Given the description of an element on the screen output the (x, y) to click on. 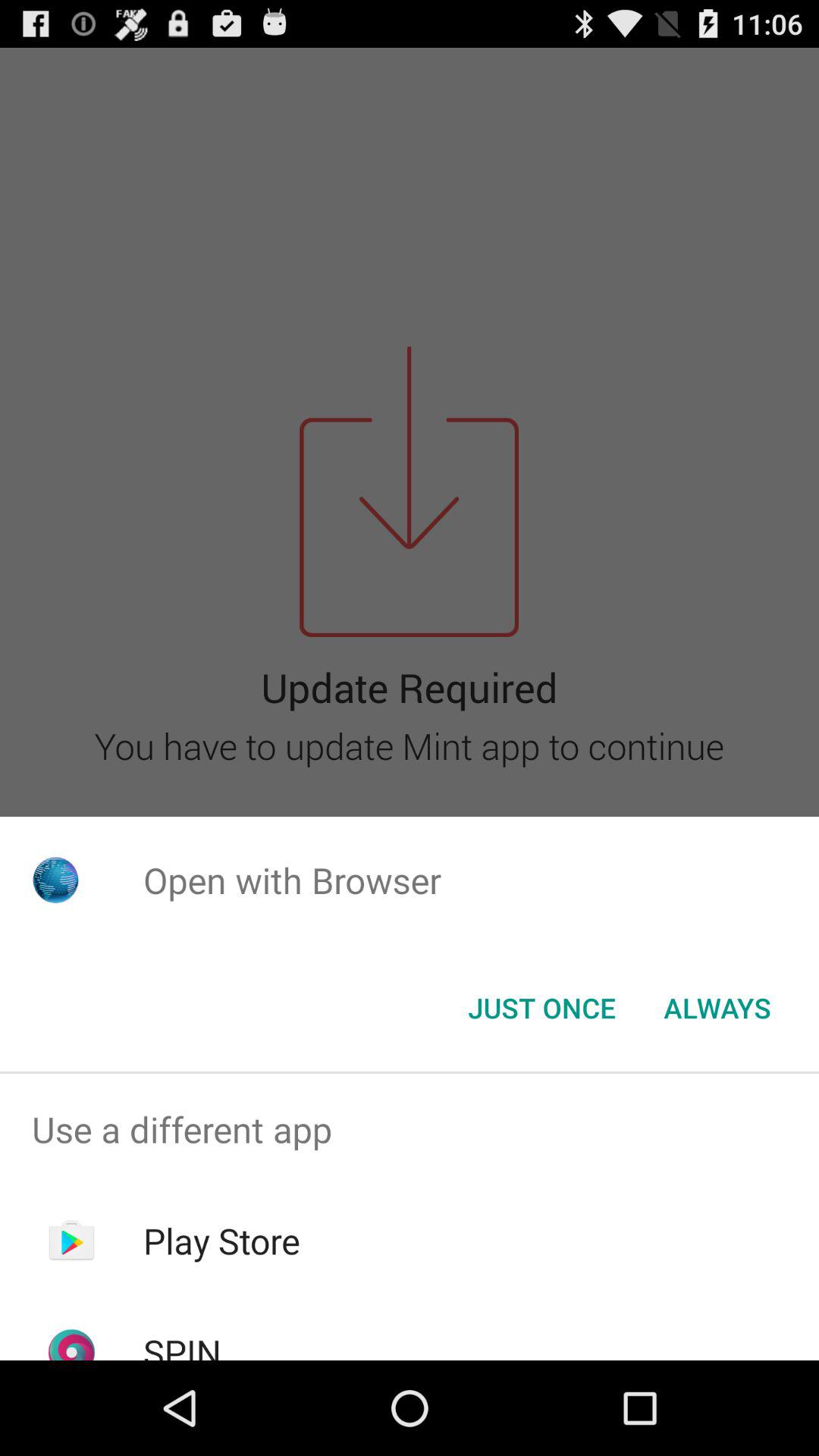
turn on app below the play store icon (182, 1344)
